Given the description of an element on the screen output the (x, y) to click on. 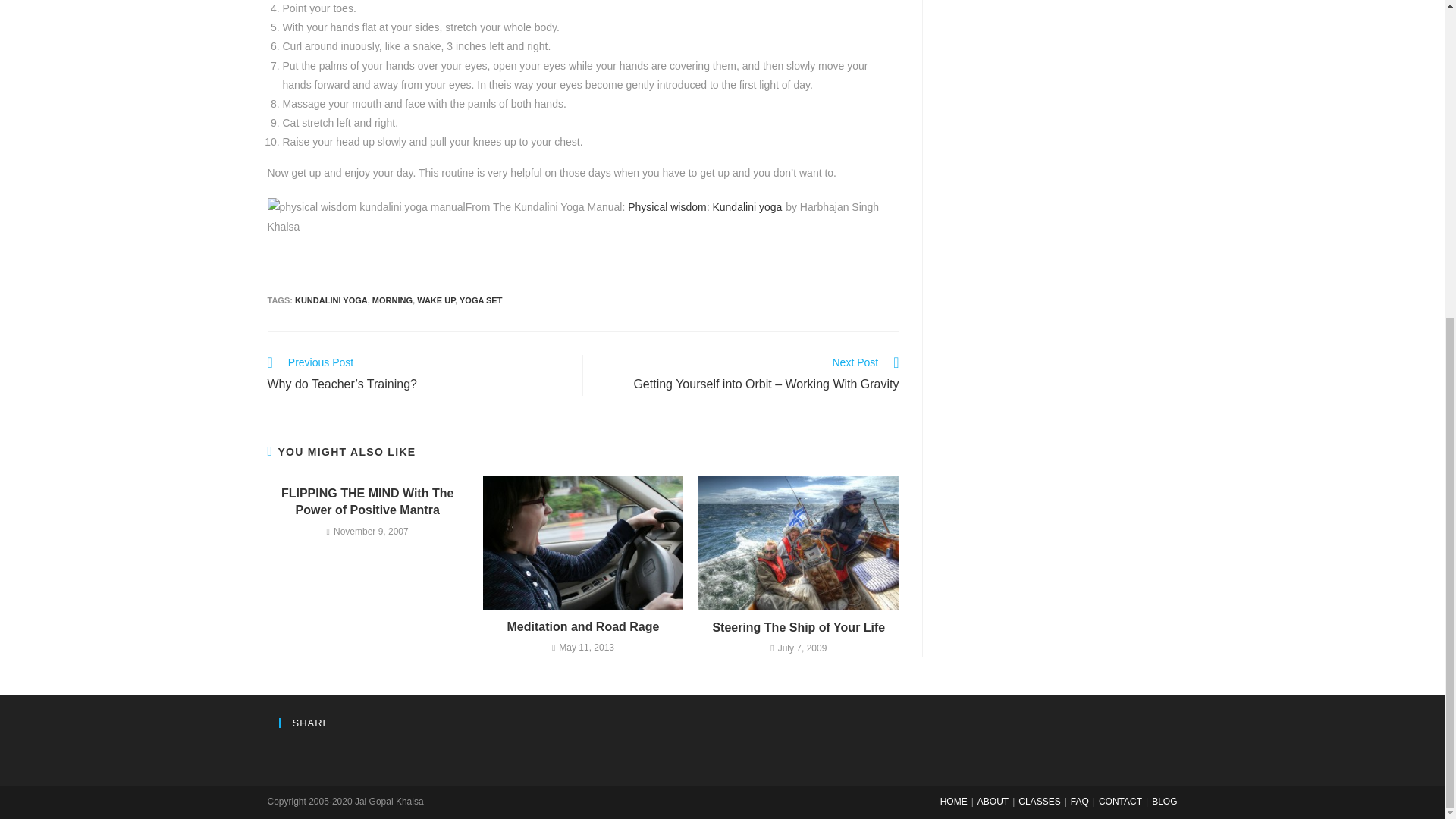
Meditation and Road Rage (583, 627)
FLIPPING THE MIND With The Power of Positive Mantra (367, 502)
FLIPPING THE MIND With The Power of Positive Mantra (367, 502)
KUNDALINI YOGA (331, 299)
Physical wisdom: Kundalini yoga (704, 206)
Steering The Ship of Your Life (798, 627)
MORNING (392, 299)
Steering The Ship of Your Life (798, 627)
Meditation and Road Rage (583, 627)
YOGA SET (481, 299)
WAKE UP (435, 299)
